Given the description of an element on the screen output the (x, y) to click on. 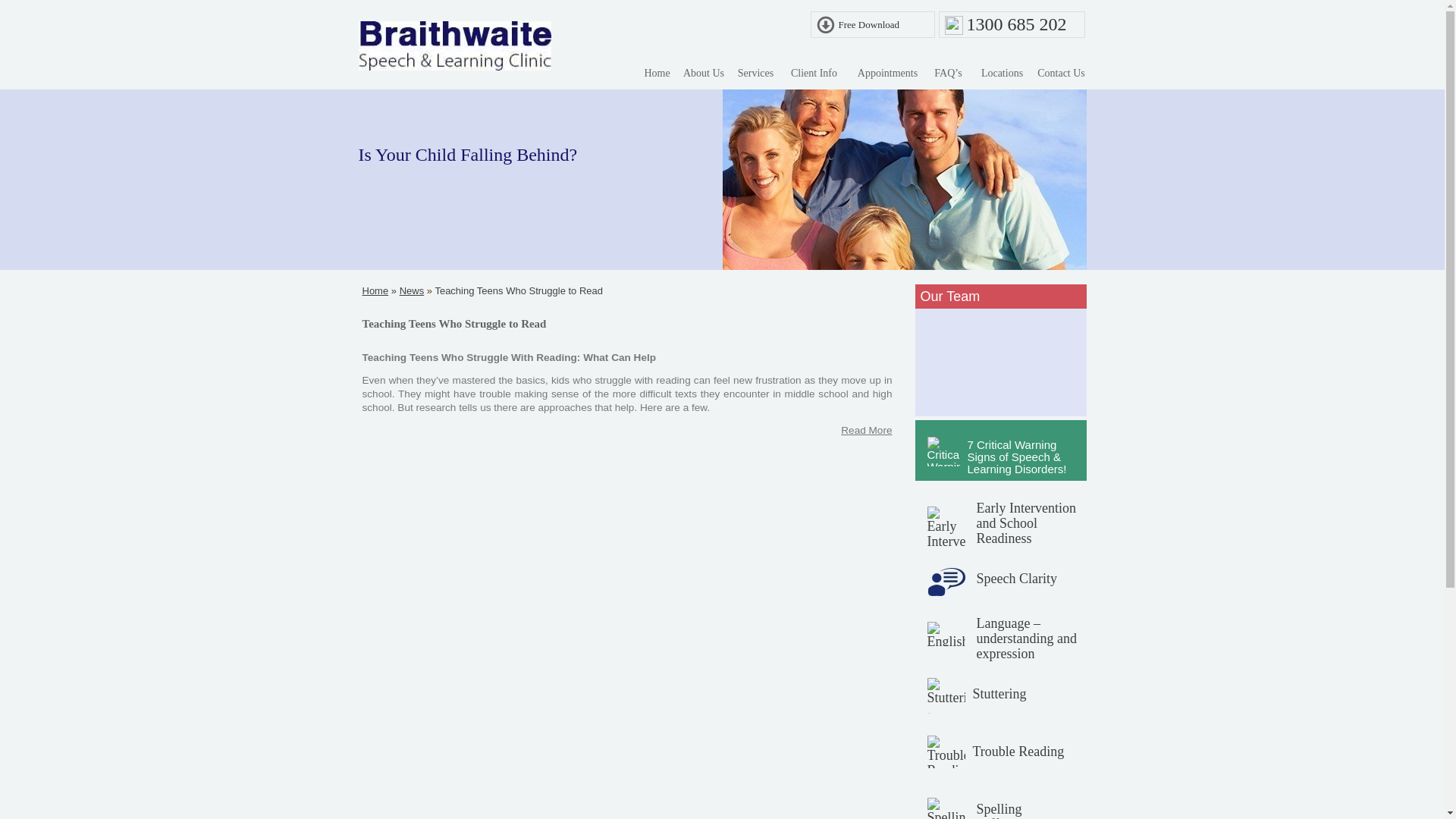
Client Info (813, 76)
Services (755, 76)
About Us (703, 76)
Locations (1002, 76)
Go to Braithwaite. (375, 290)
Free Download (868, 24)
Appointments (887, 76)
Home (657, 76)
1300 685 202 (1015, 24)
